Given the description of an element on the screen output the (x, y) to click on. 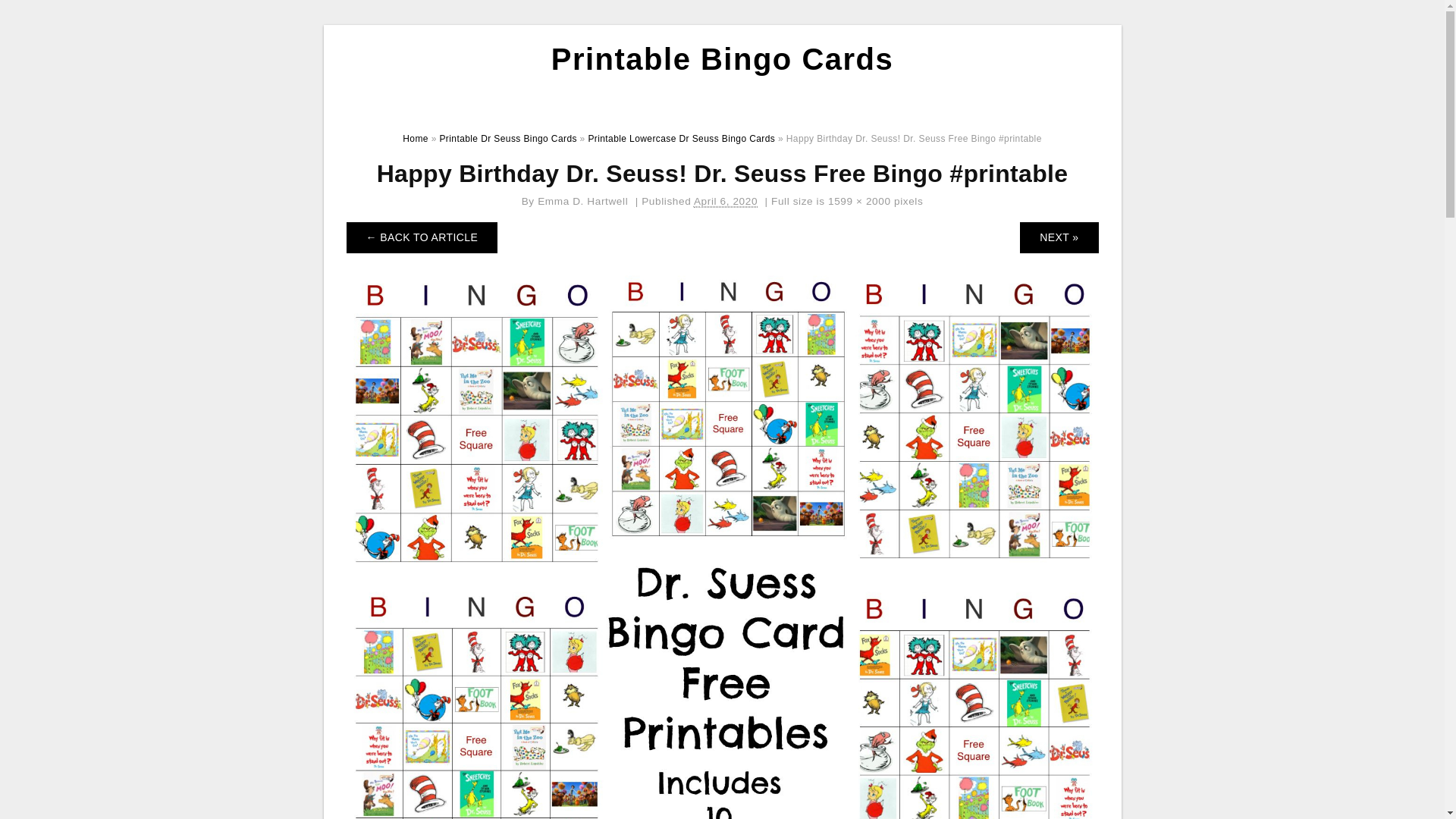
Printable Lowercase Dr Seuss Bingo Cards (681, 138)
View all posts by Emma D. Hartwell (582, 201)
Printable Dr Seuss Bingo Cards (507, 138)
Link to full-size image (859, 201)
Return to Printable Lowercase Dr Seuss Bingo Cards (421, 237)
Home (415, 138)
Emma D. Hartwell (582, 201)
Printable Bingo Cards (722, 59)
11:05 am (725, 201)
